Given the description of an element on the screen output the (x, y) to click on. 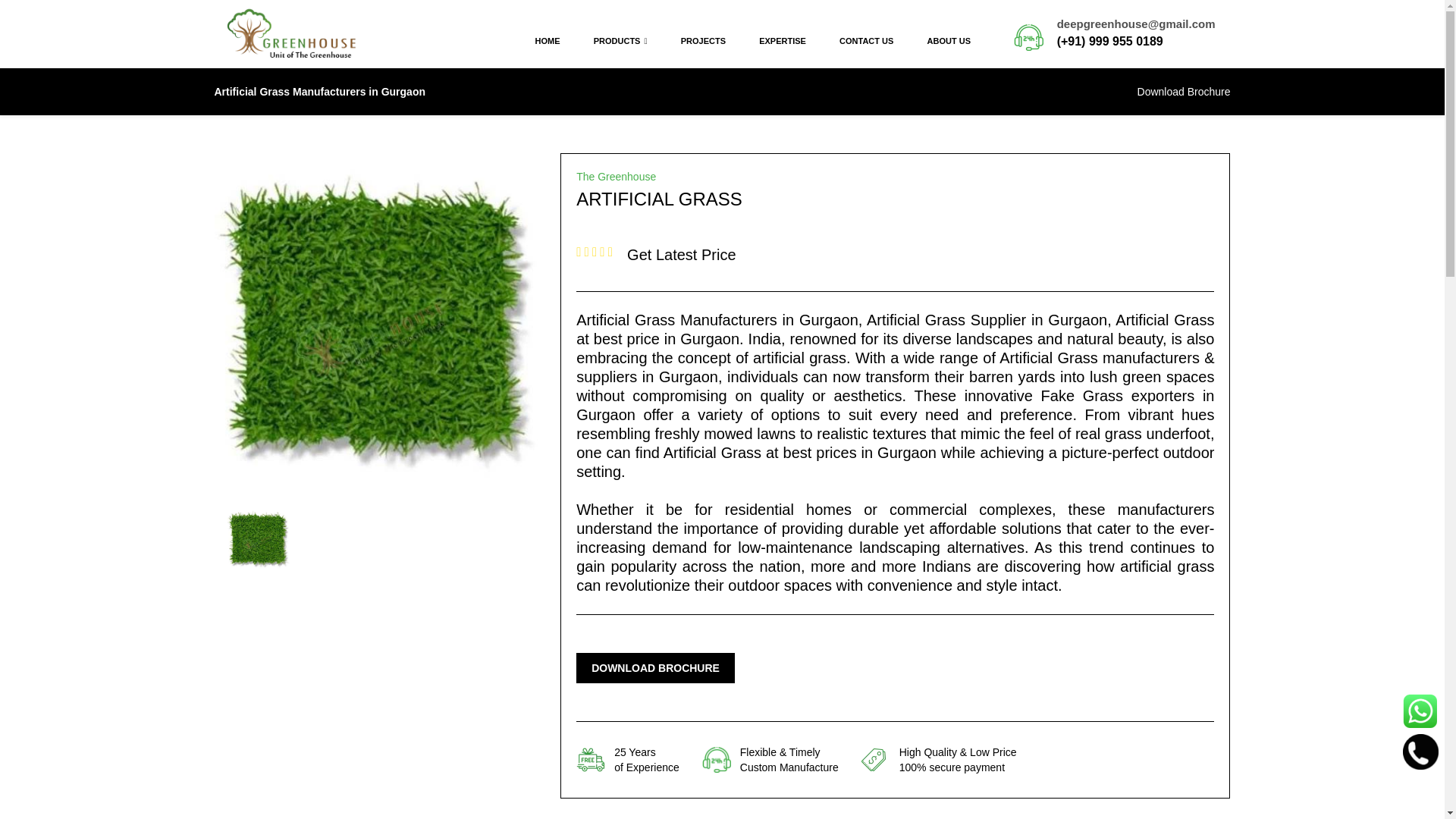
PRODUCTS (620, 41)
HOME (547, 41)
DOWNLOAD BROCHURE (655, 667)
CONTACT US (866, 41)
EXPERTISE (782, 41)
ABOUT US (949, 41)
PROJECTS (703, 41)
Download Brochure (1183, 91)
DOWNLOAD BROCHURE (655, 667)
